Given the description of an element on the screen output the (x, y) to click on. 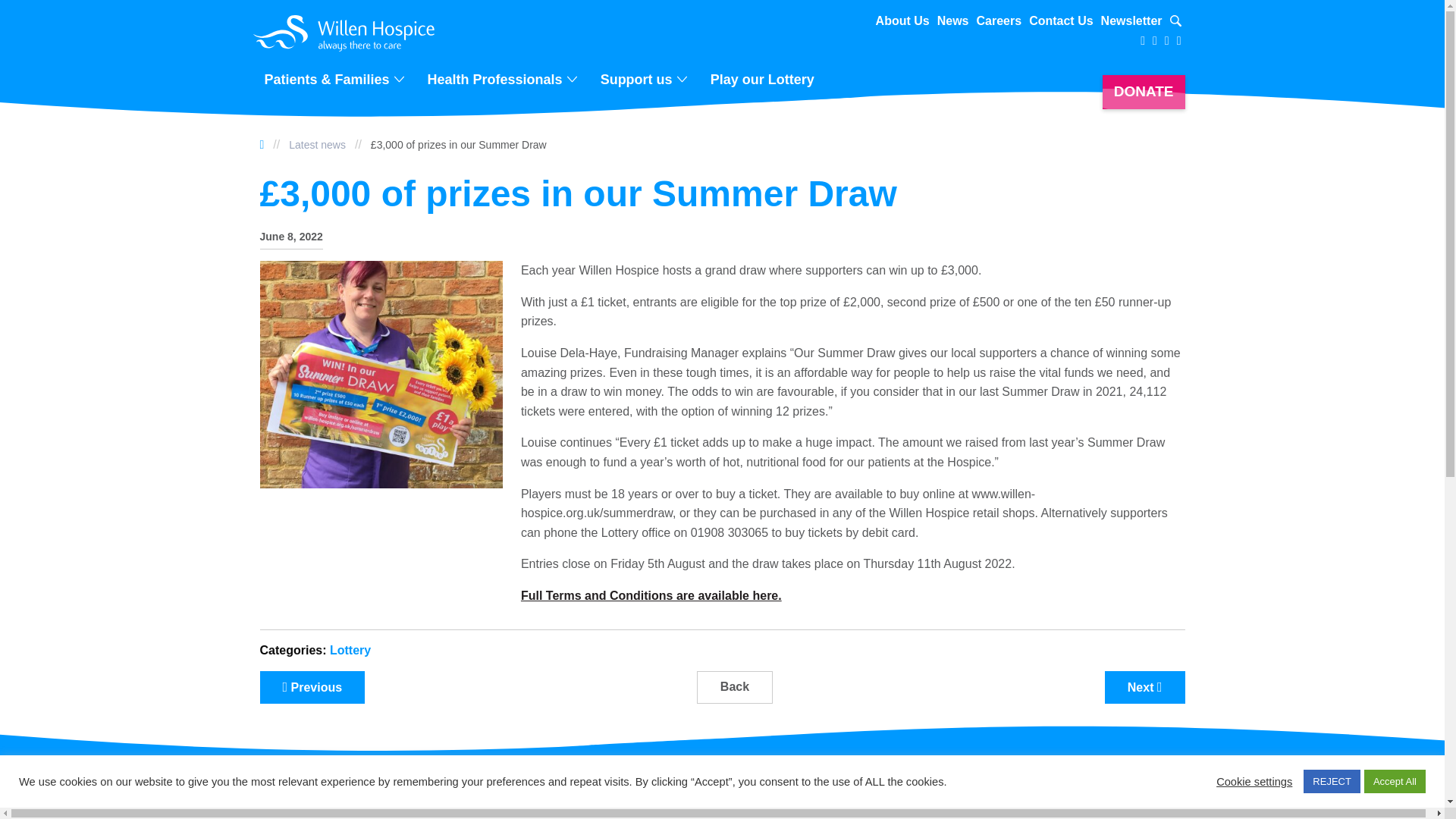
GO (1166, 22)
DONATE (1143, 91)
Careers (999, 21)
Newsletter (1130, 21)
Contact Us (1061, 21)
News (953, 21)
news (317, 144)
Support us (639, 79)
About Us (903, 21)
Health Professionals (497, 79)
Play our Lottery (762, 79)
